Given the description of an element on the screen output the (x, y) to click on. 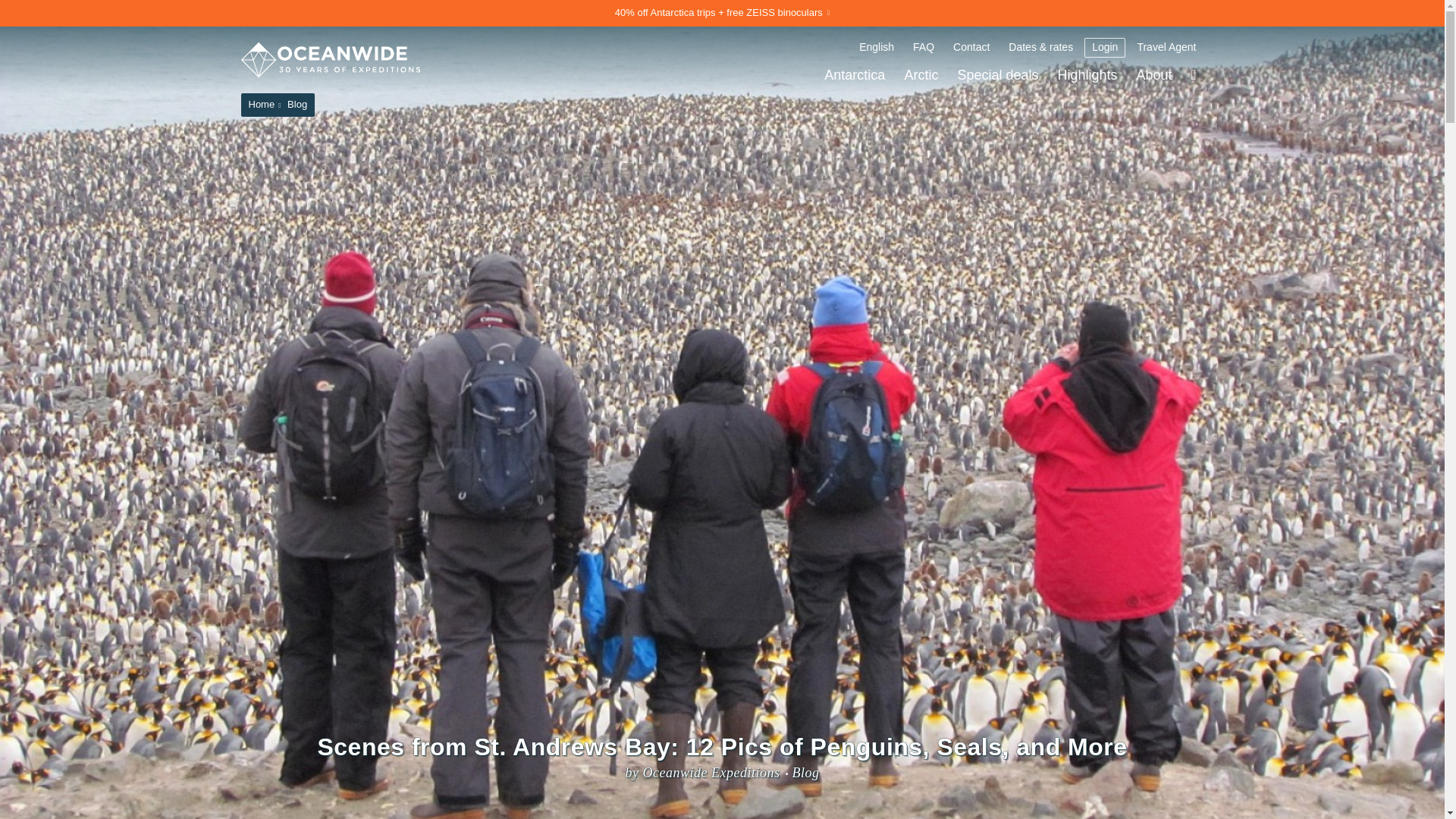
Arctic (920, 74)
Special deals (997, 74)
Contact (970, 47)
Antarctica (854, 74)
Travel Agent (1166, 47)
English (876, 47)
Oceanwide Expeditions (330, 59)
FAQ (923, 47)
Highlights (1086, 74)
Login (1104, 47)
